Given the description of an element on the screen output the (x, y) to click on. 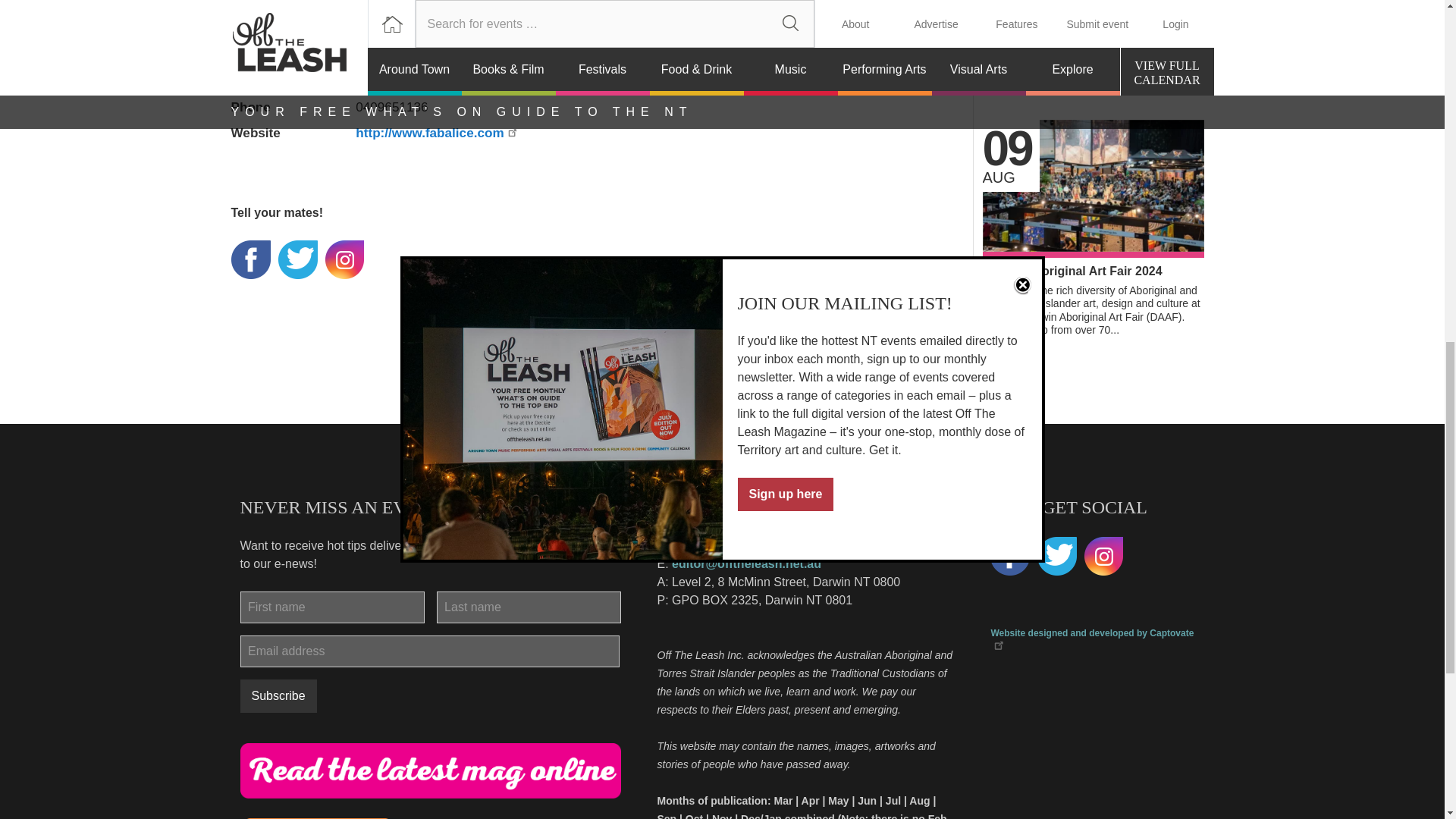
Tweet this on twitter (297, 260)
Share on Instagram (344, 260)
Share on Facebook (1093, 3)
Subscribe (249, 260)
Darkfield: Flight (277, 695)
Darwin Aboriginal Art Fair 2024 (1028, 25)
Subscribe (1071, 270)
PayPal - The safer, easier way to pay online! (277, 695)
